Given the description of an element on the screen output the (x, y) to click on. 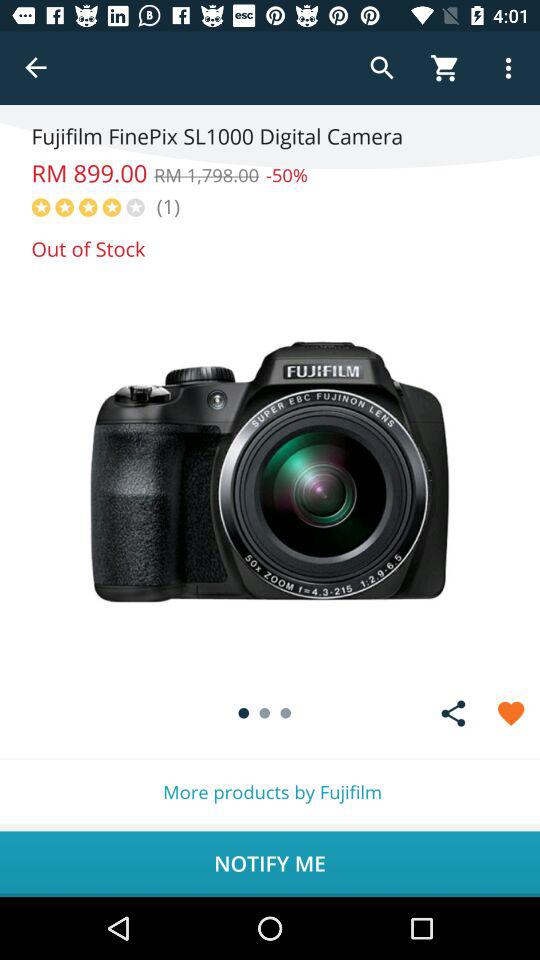
share picture (453, 713)
